Given the description of an element on the screen output the (x, y) to click on. 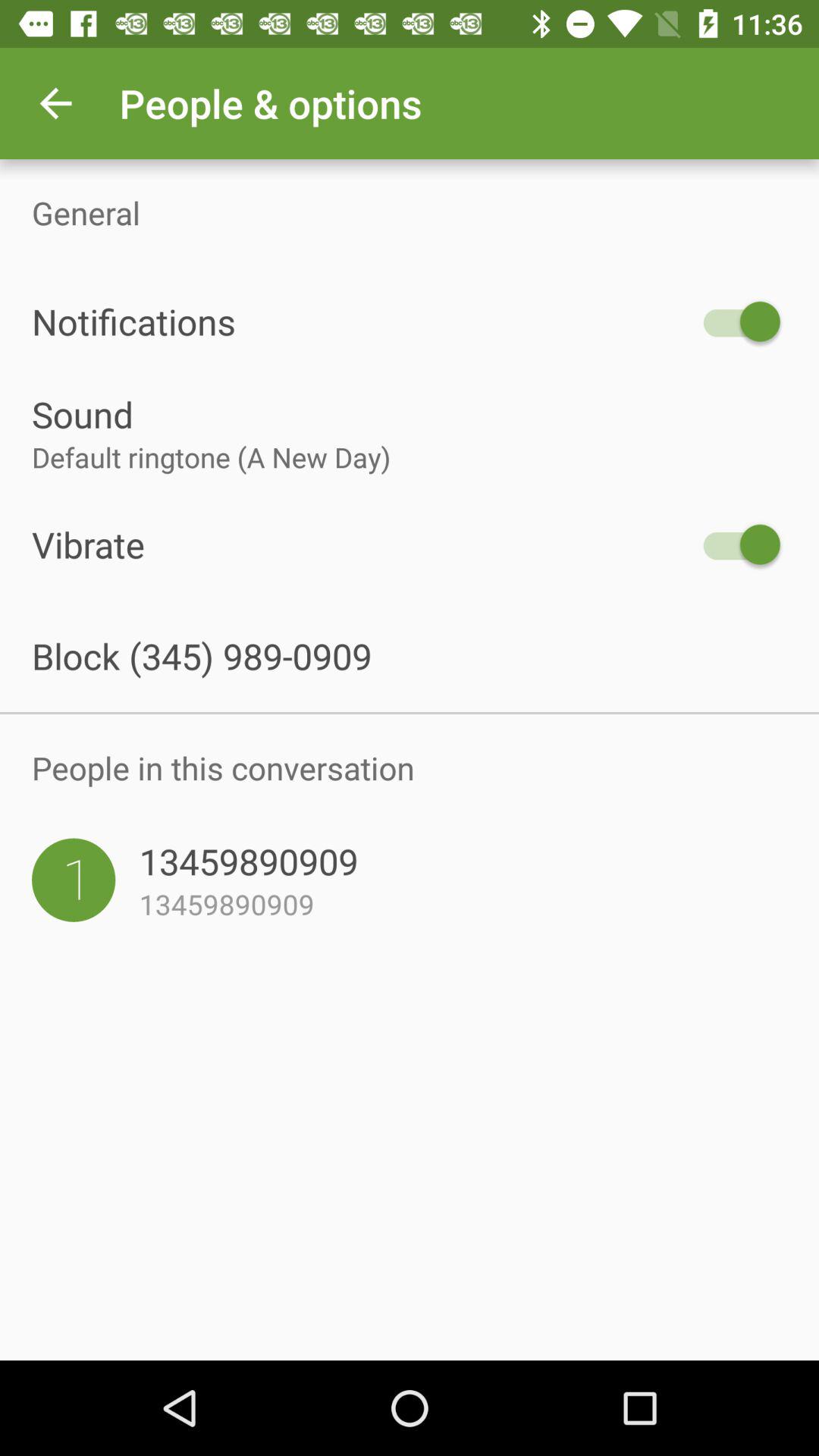
turn off the vibrate item (361, 544)
